Given the description of an element on the screen output the (x, y) to click on. 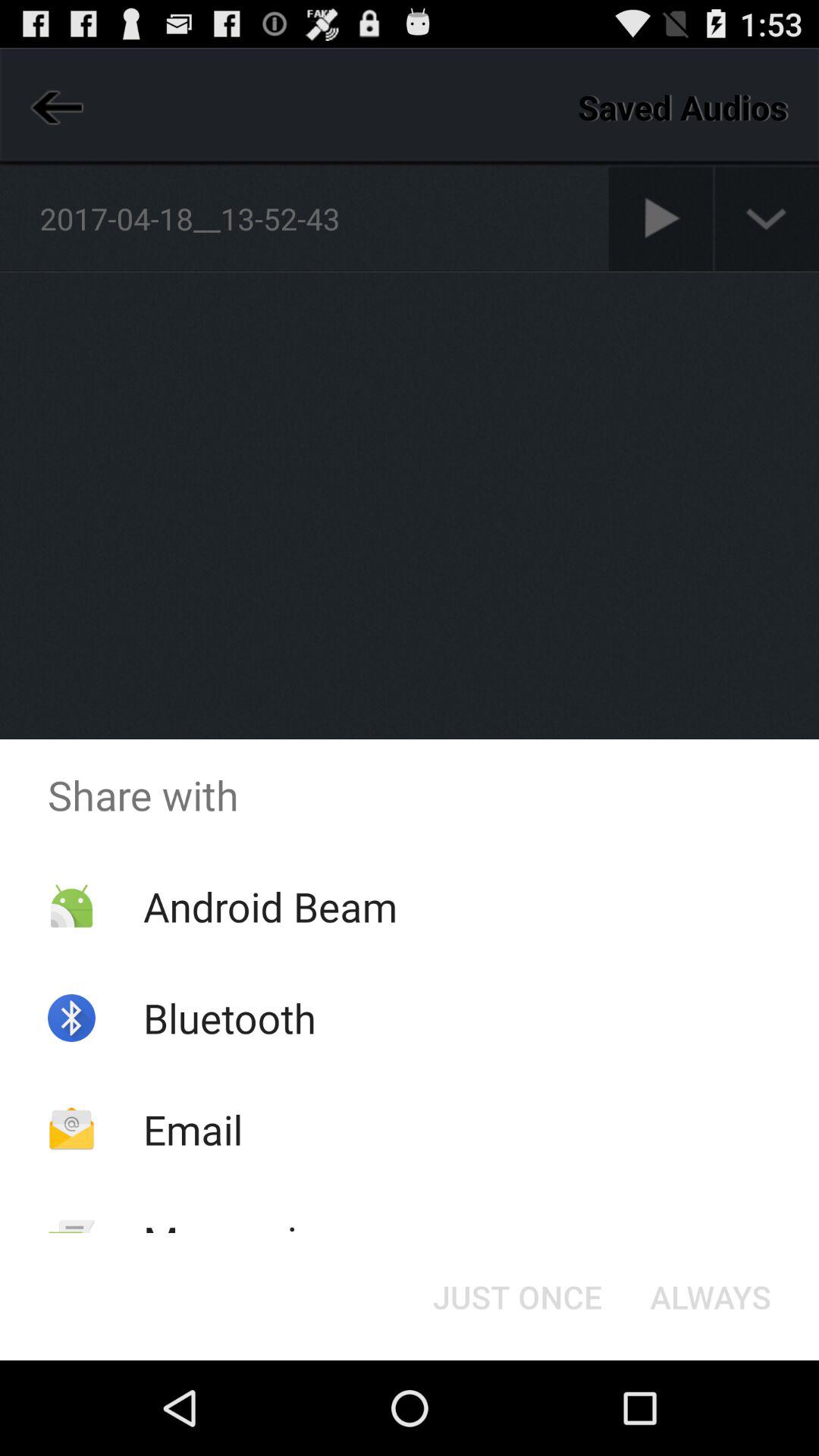
flip until android beam icon (270, 905)
